Given the description of an element on the screen output the (x, y) to click on. 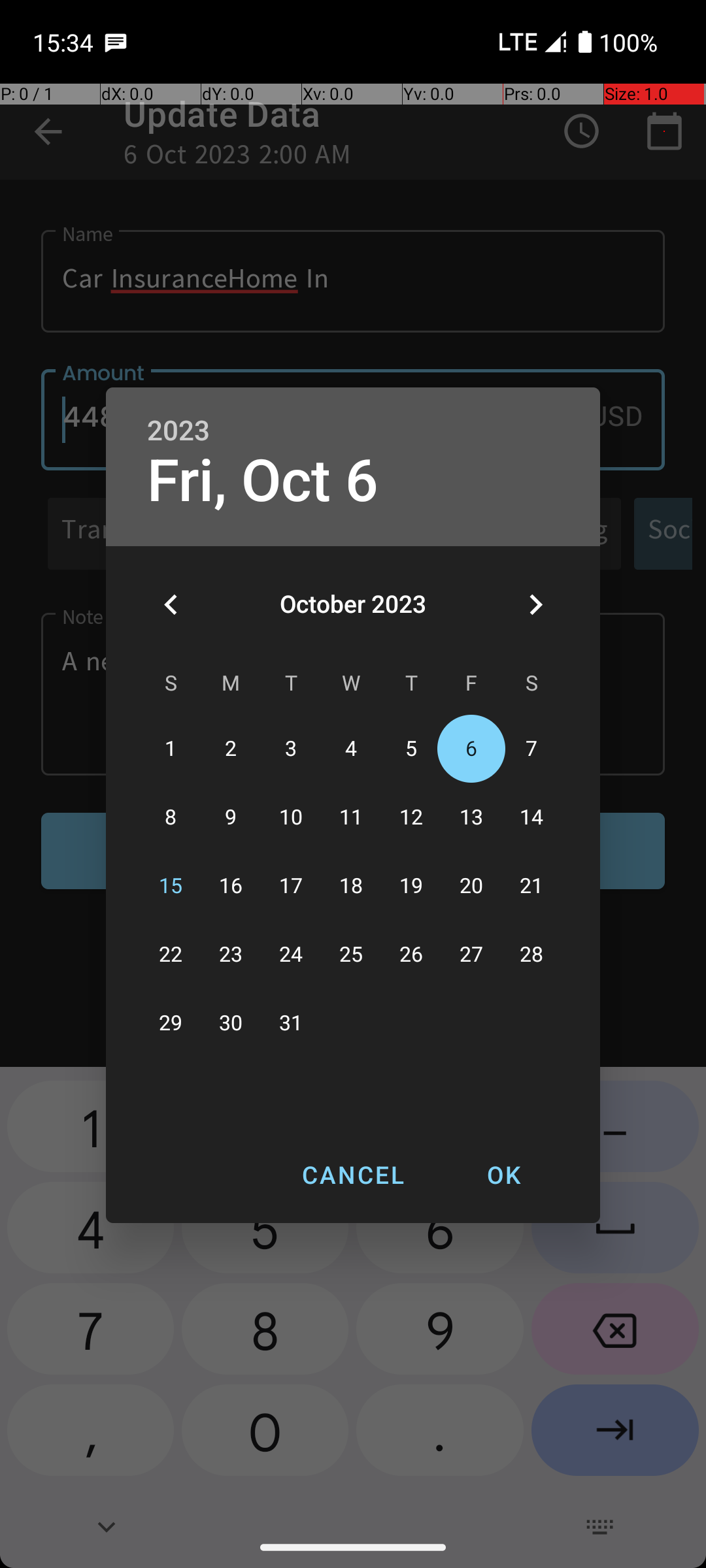
Fri, Oct 6 Element type: android.widget.TextView (262, 480)
